Given the description of an element on the screen output the (x, y) to click on. 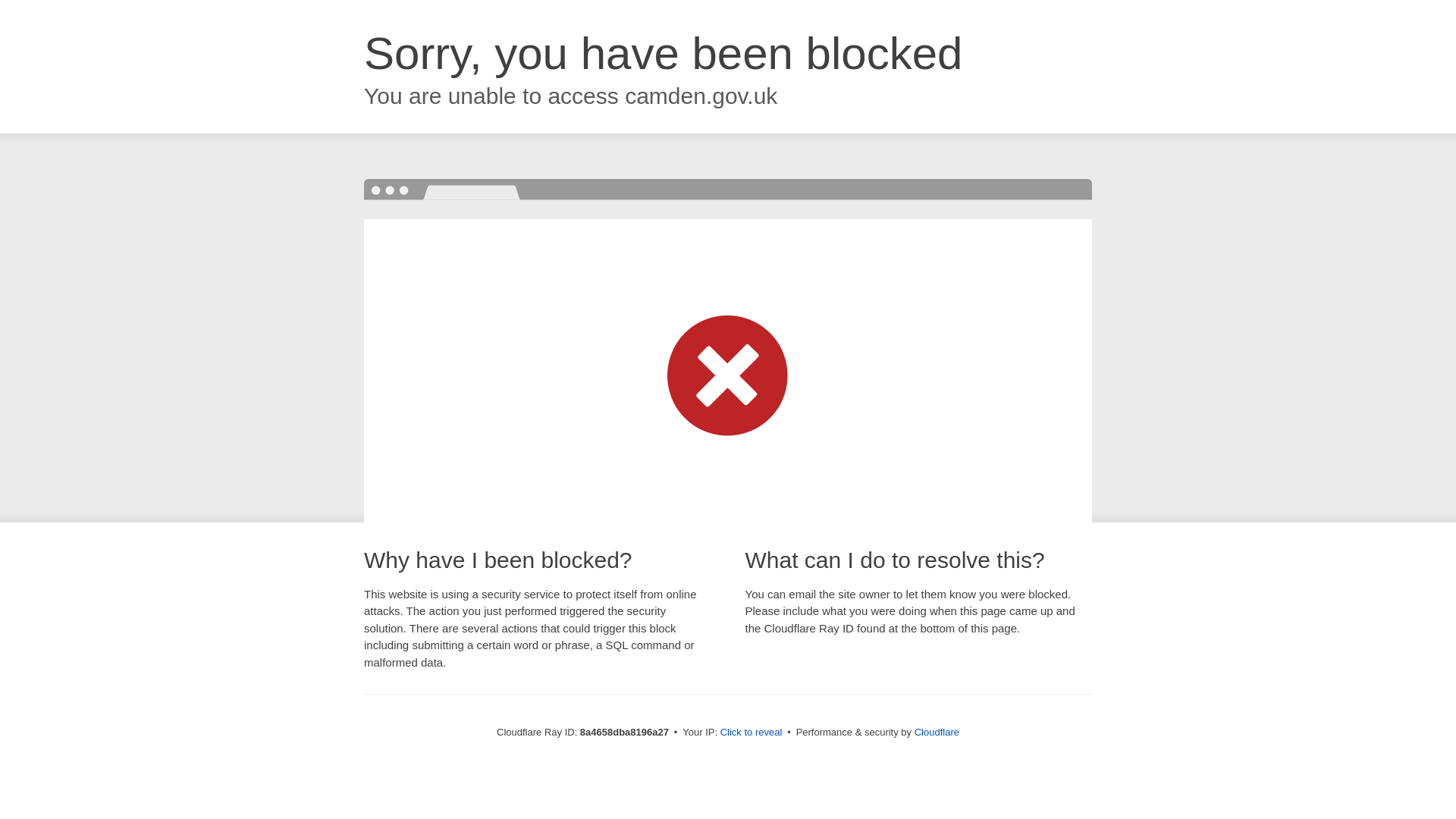
Cloudflare (936, 731)
Click to reveal (751, 732)
